Given the description of an element on the screen output the (x, y) to click on. 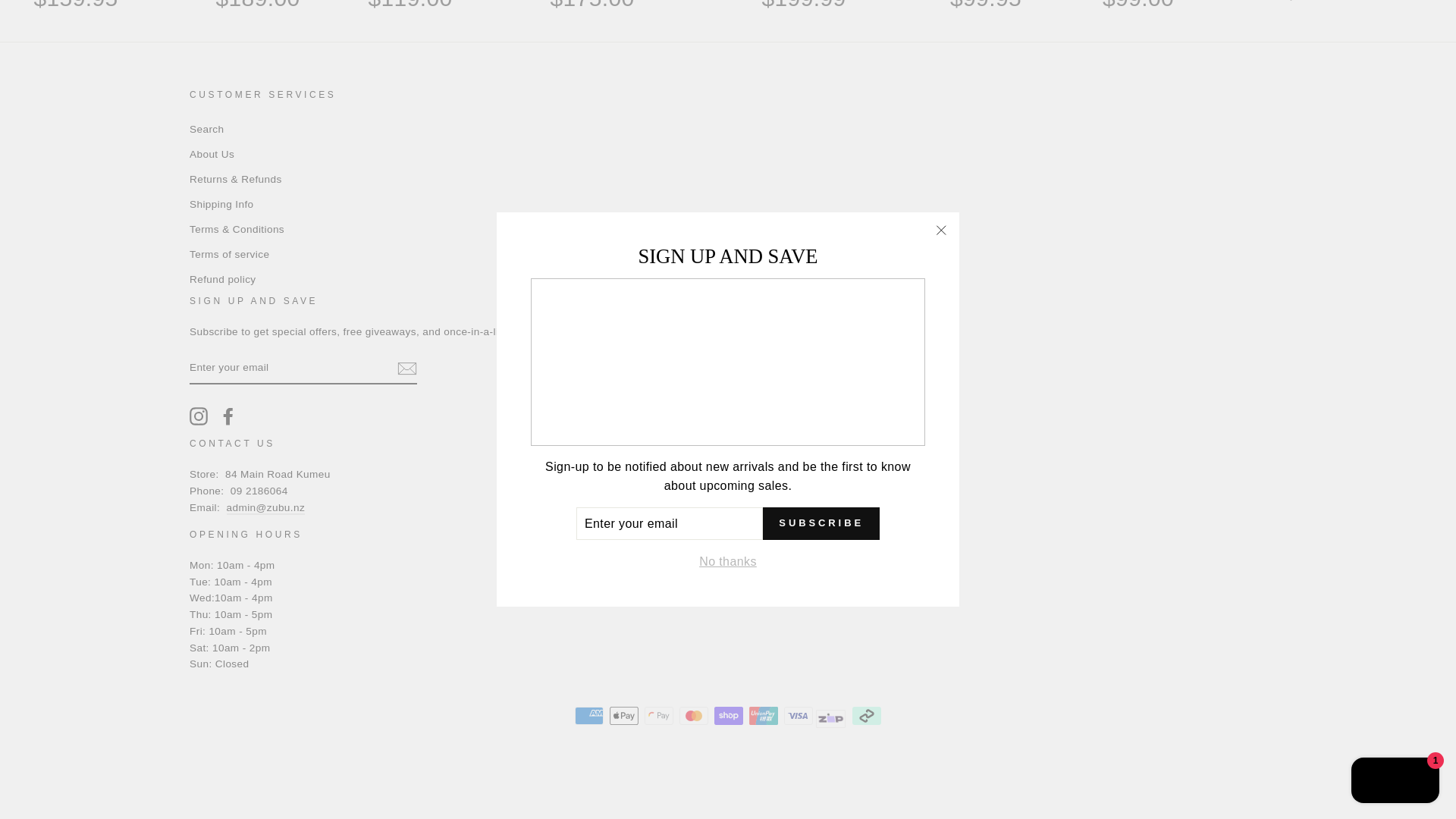
Visa (798, 715)
Mastercard (693, 715)
American Express (589, 715)
Apple Pay (624, 715)
Shop Pay (728, 715)
Google Pay (658, 715)
Union Pay (763, 715)
